Given the description of an element on the screen output the (x, y) to click on. 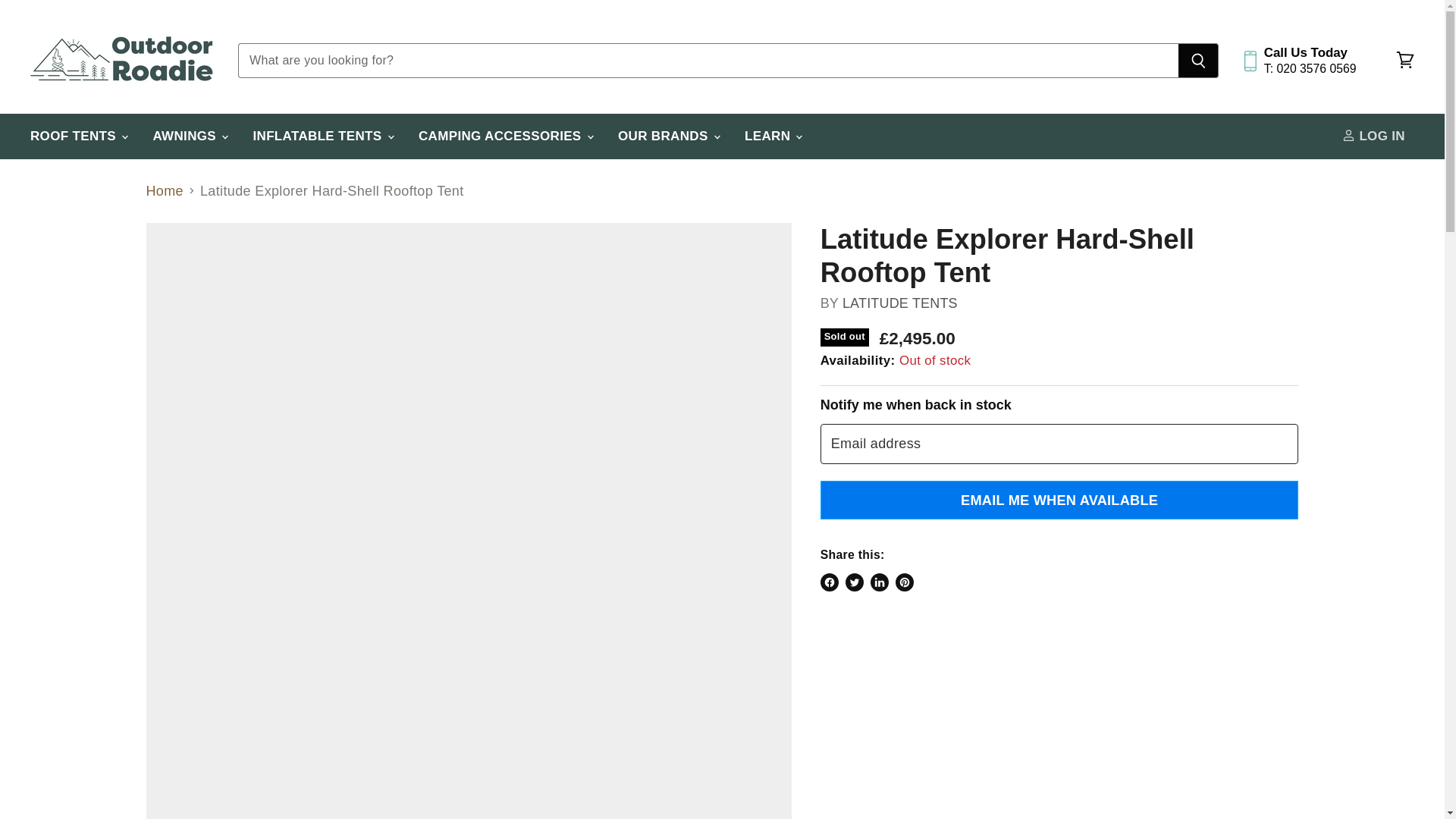
ACCOUNT ICON (1348, 134)
OUR BRANDS (668, 136)
CAMPING ACCESSORIES (504, 136)
INFLATABLE TENTS (322, 136)
AWNINGS (189, 136)
ROOF TENTS (77, 136)
View cart (1405, 60)
